Given the description of an element on the screen output the (x, y) to click on. 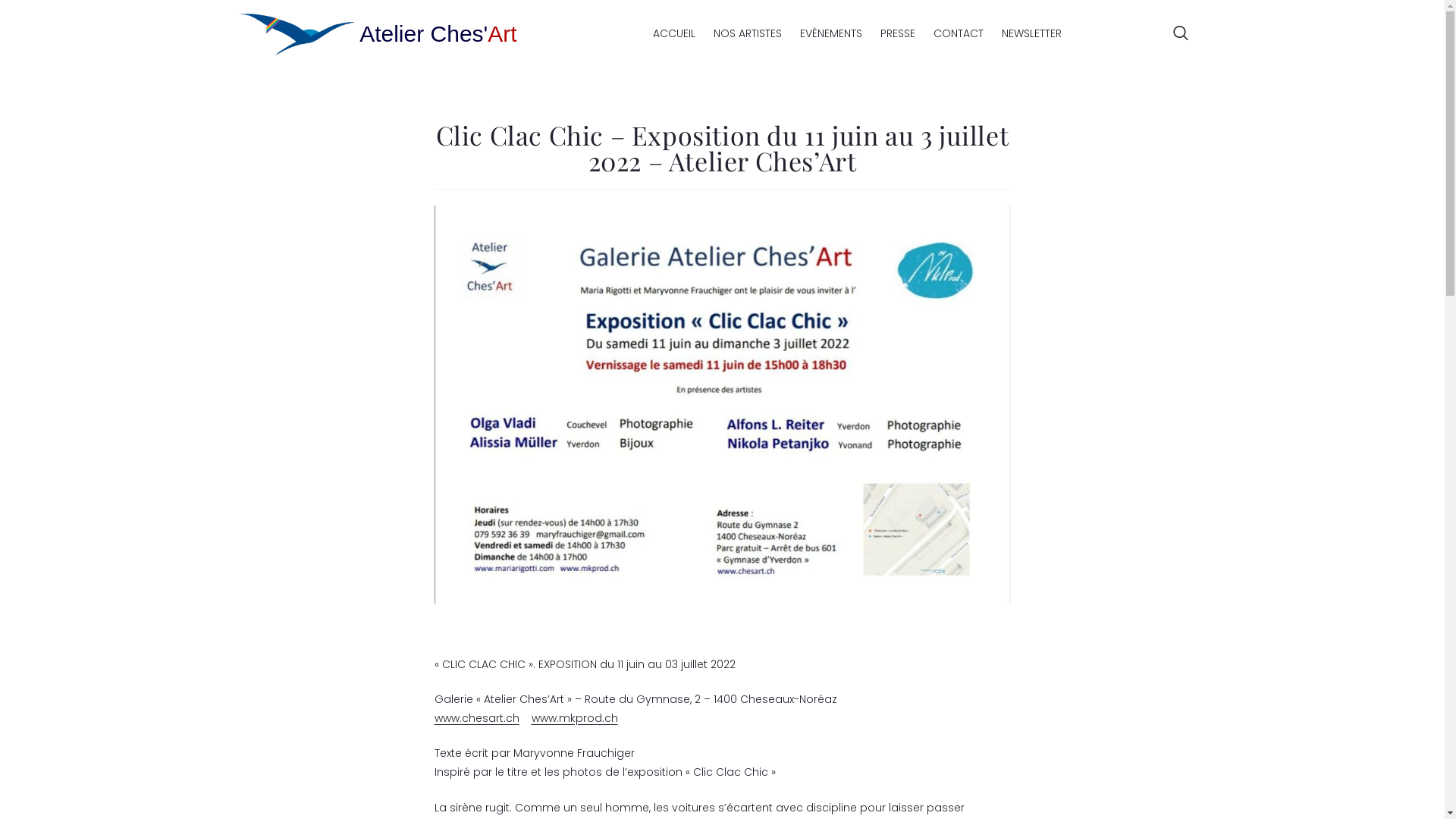
www.mkprod.ch Element type: text (573, 717)
CONTACT Element type: text (958, 34)
NEWSLETTER Element type: text (1031, 34)
ACCUEIL Element type: text (673, 34)
www.chesart.ch Element type: text (475, 717)
NOS ARTISTES Element type: text (747, 34)
PRESSE Element type: text (897, 34)
